Given the description of an element on the screen output the (x, y) to click on. 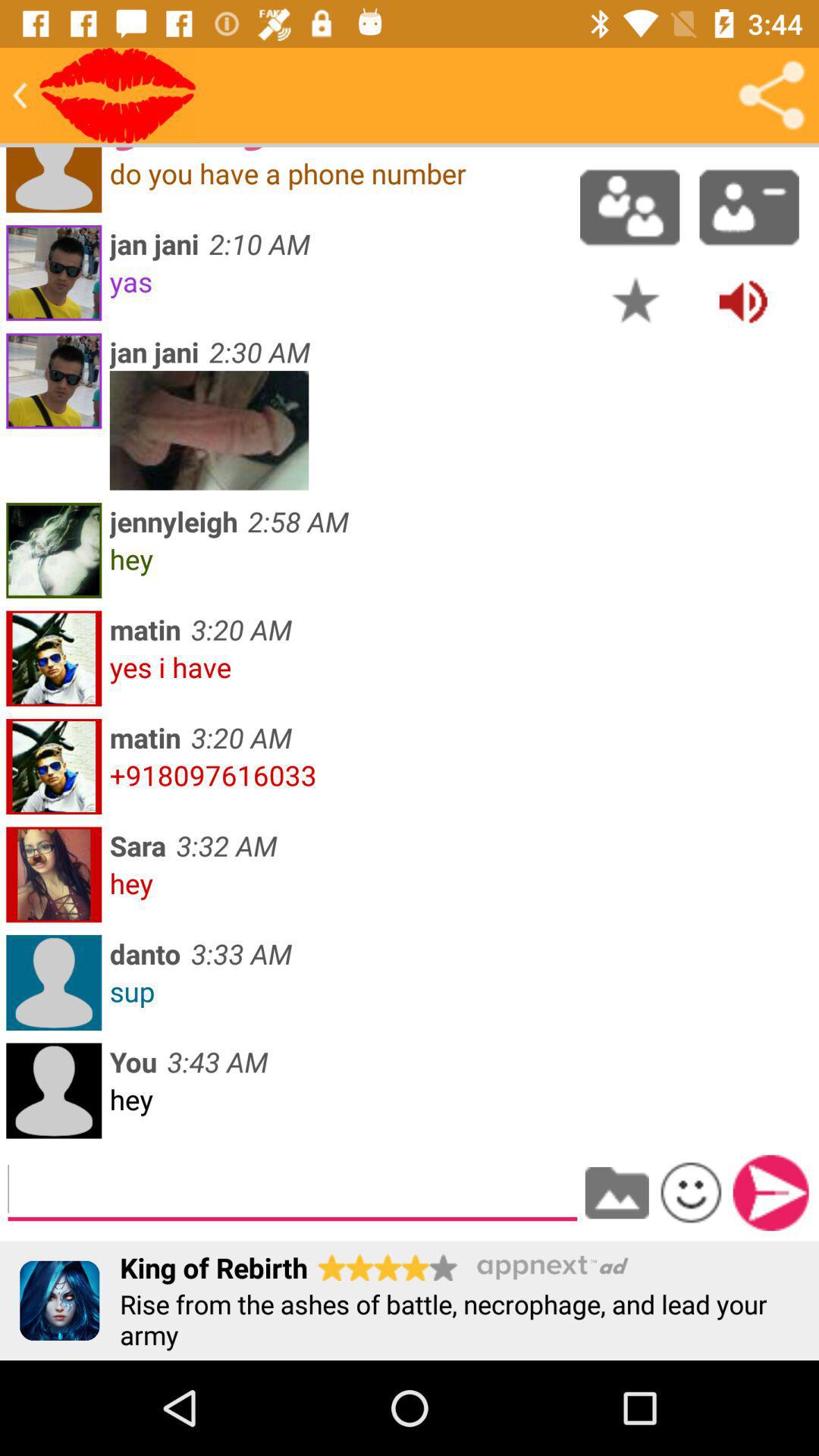
make larger (208, 430)
